Given the description of an element on the screen output the (x, y) to click on. 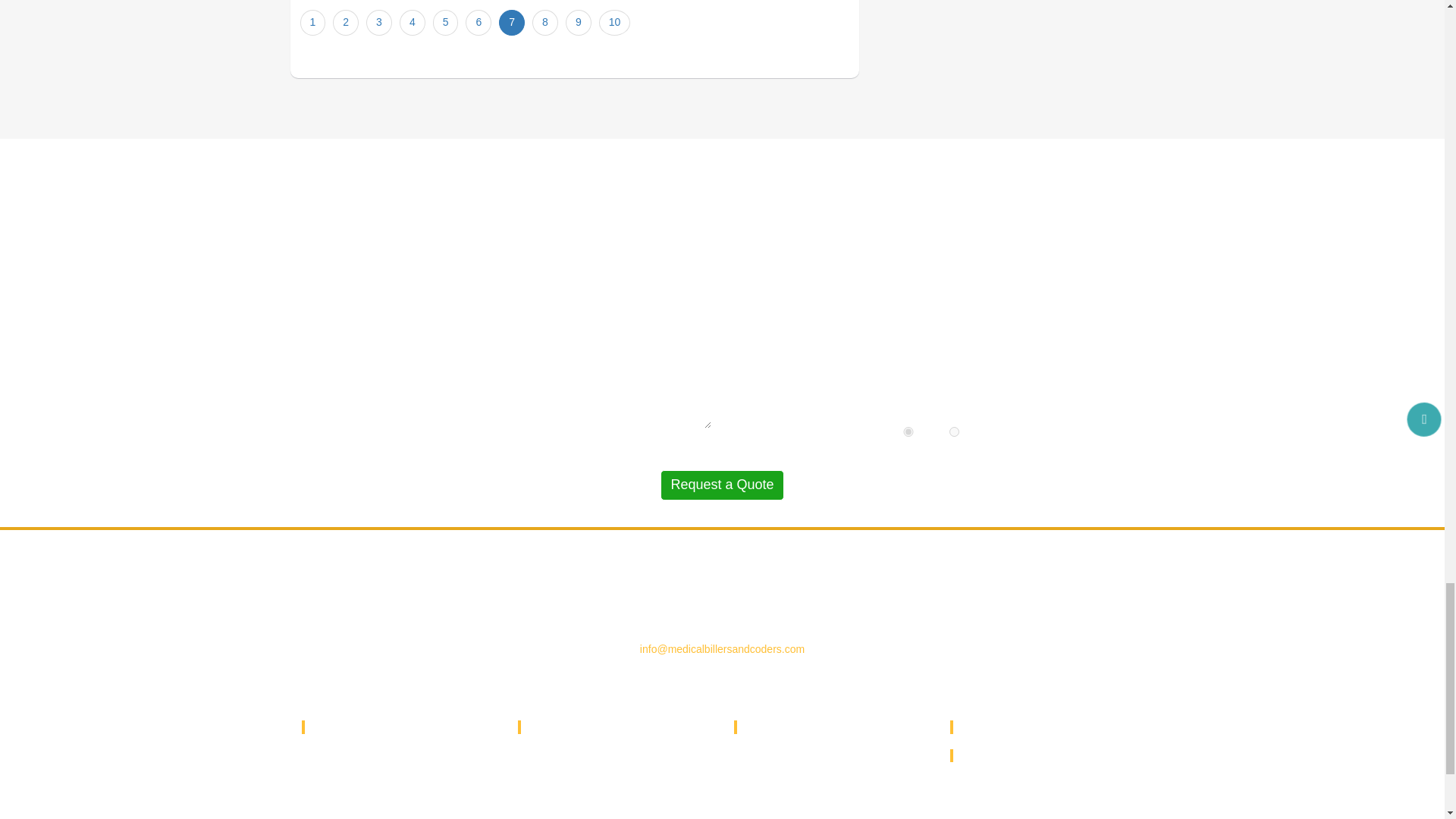
Yes (907, 431)
No (954, 431)
